Given the description of an element on the screen output the (x, y) to click on. 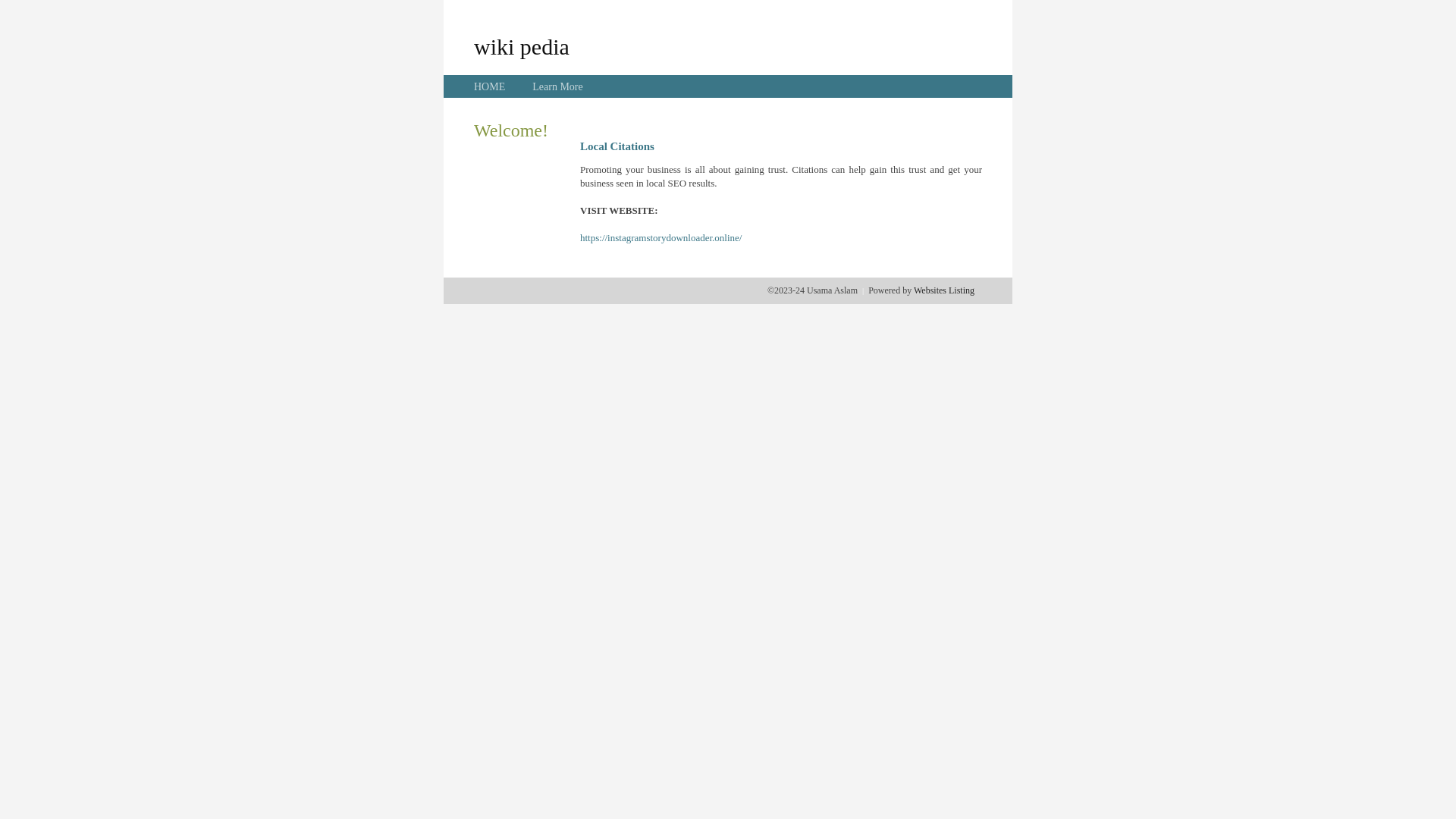
wiki pedia Element type: text (521, 46)
HOME Element type: text (489, 86)
https://instagramstorydownloader.online/ Element type: text (660, 237)
Learn More Element type: text (557, 86)
Websites Listing Element type: text (943, 290)
